Given the description of an element on the screen output the (x, y) to click on. 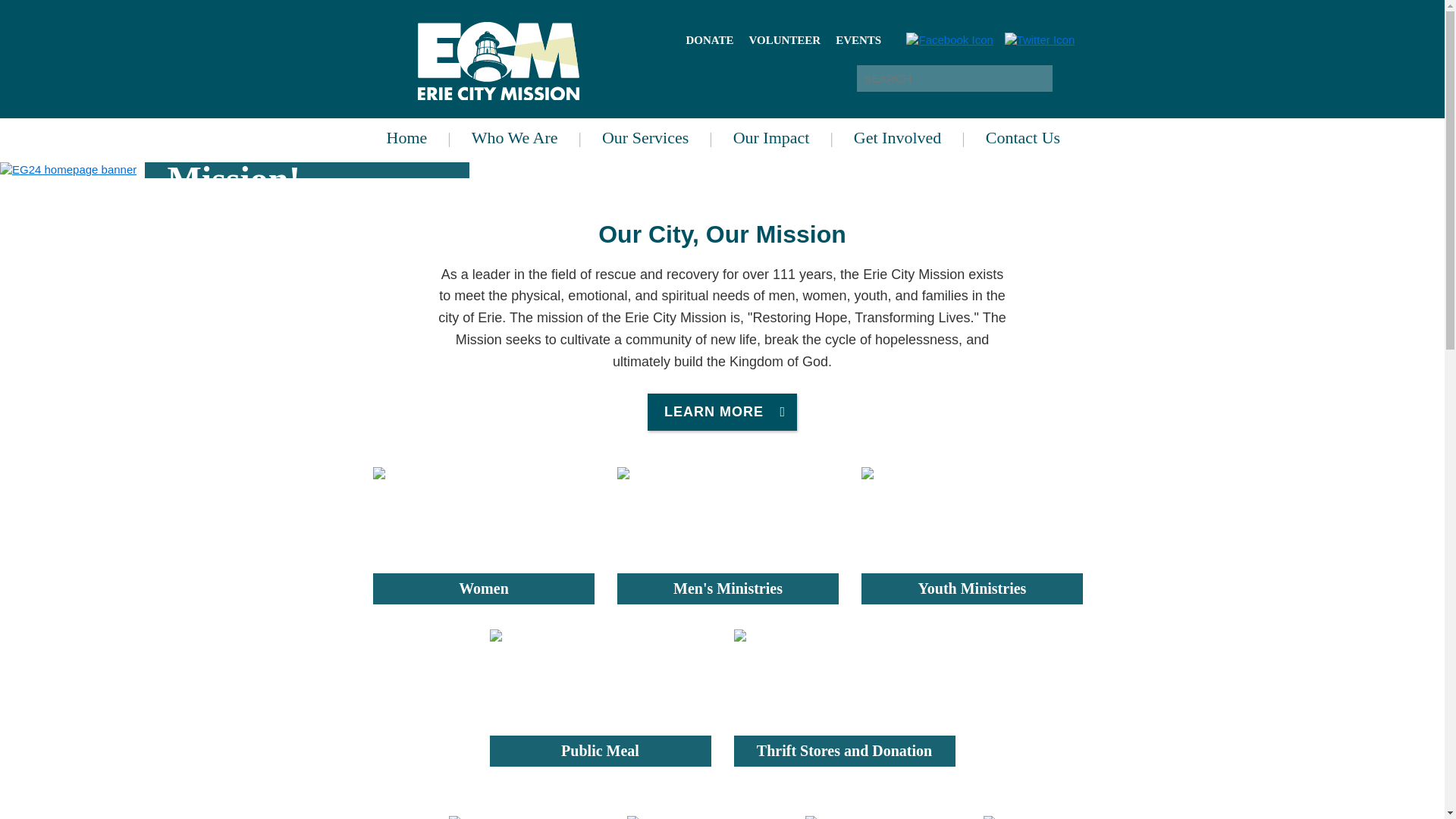
Contact Us (1012, 137)
Go (1065, 78)
Home (407, 137)
Go (1065, 78)
Who We Are (515, 137)
Back to Home Page (497, 59)
DONATE (709, 39)
Get Involved (898, 137)
Our Impact (772, 137)
EVENTS (857, 39)
Go (1065, 78)
VOLUNTEER (784, 39)
Skip to main content (94, 2)
Our Services (646, 137)
